Given the description of an element on the screen output the (x, y) to click on. 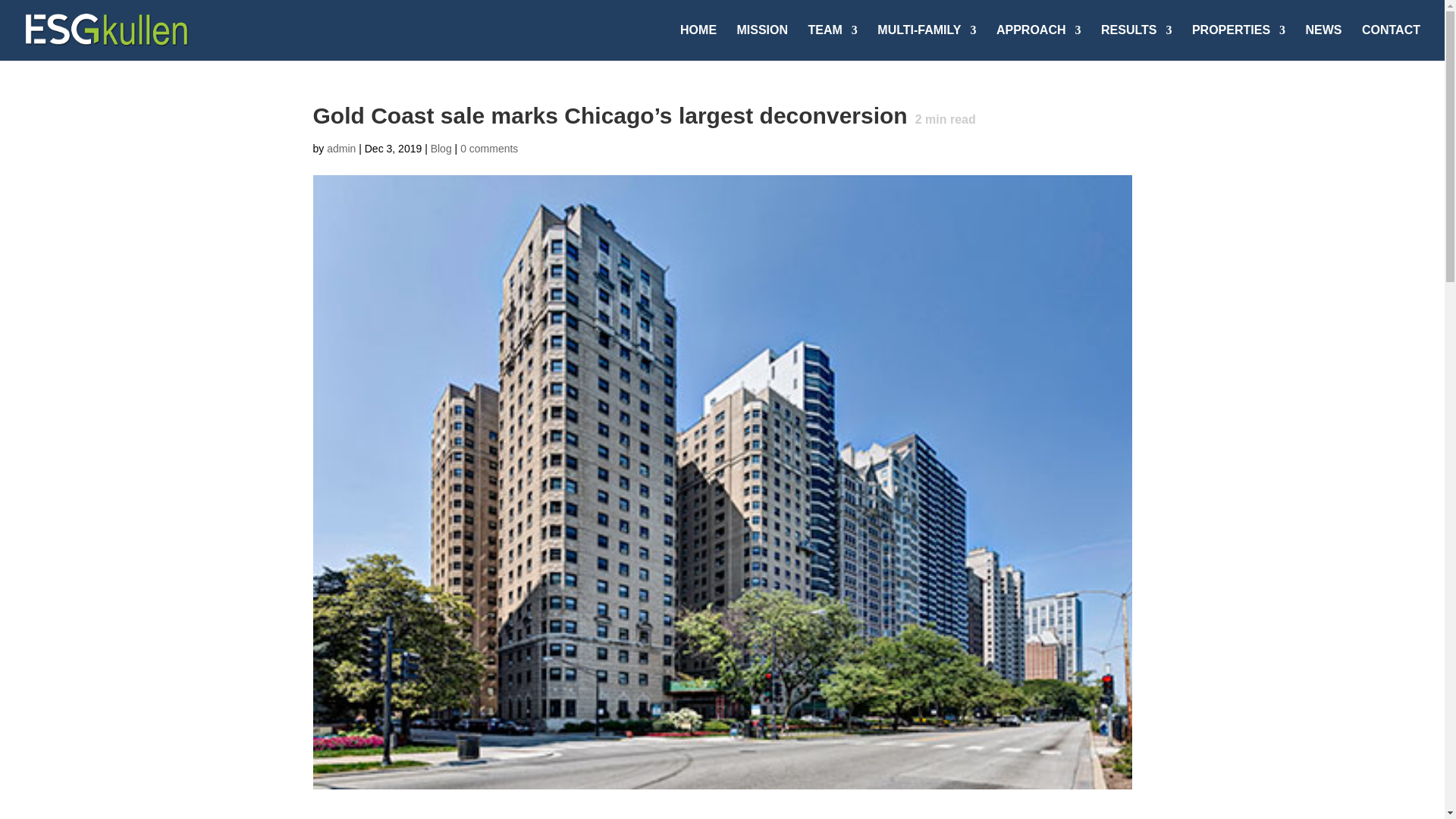
MULTI-FAMILY (926, 42)
TEAM (832, 42)
Posts by admin (340, 148)
HOME (697, 42)
APPROACH (1038, 42)
PROPERTIES (1238, 42)
RESULTS (1136, 42)
MISSION (762, 42)
